Given the description of an element on the screen output the (x, y) to click on. 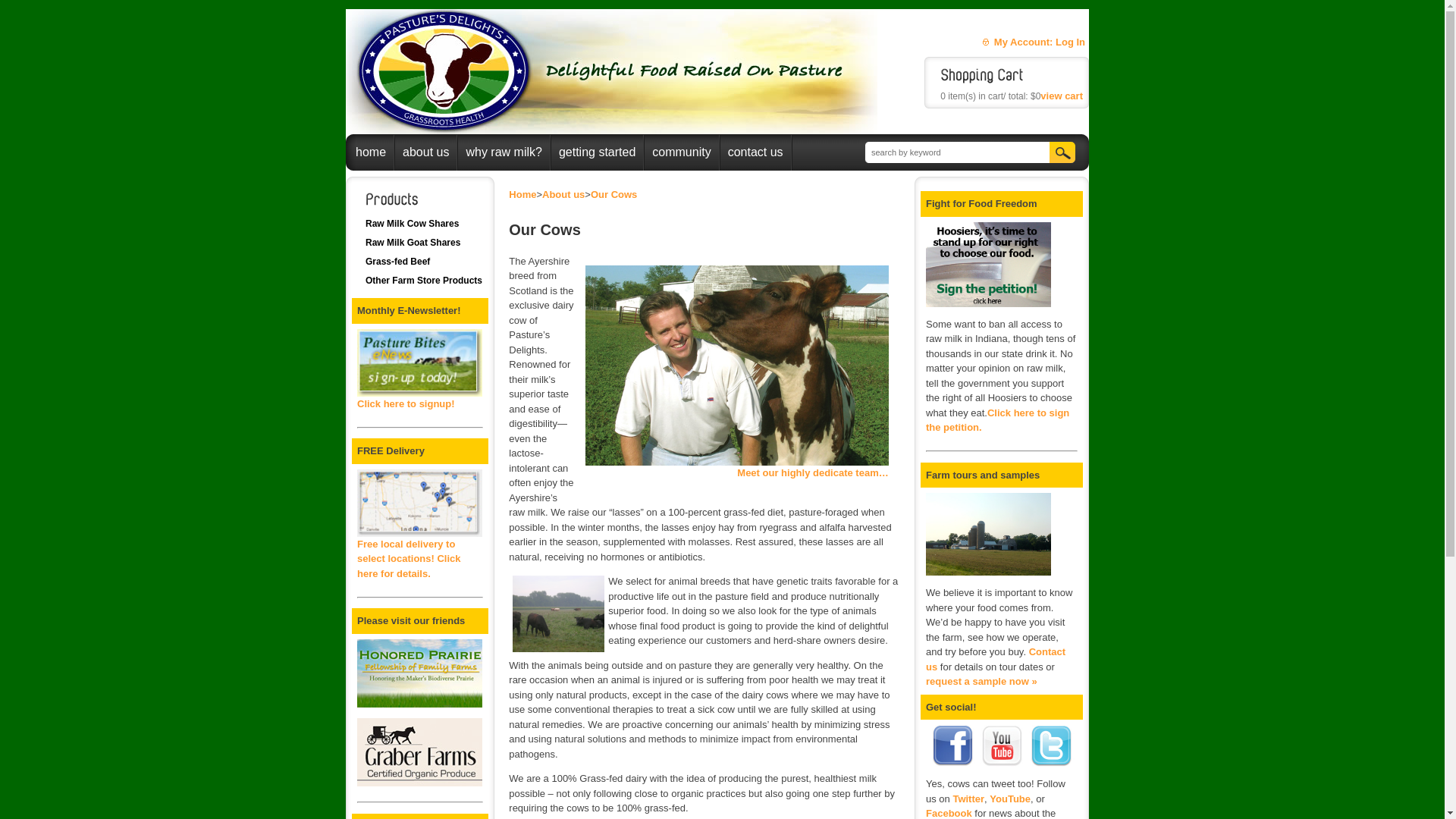
Log In Element type: text (1070, 41)
contact us Element type: text (755, 151)
My Account: Element type: text (1023, 41)
Contact us Element type: text (995, 659)
YouTube Element type: text (1009, 798)
Grass-fed Beef Element type: text (397, 261)
Click here to signup! Element type: text (419, 397)
Raw Milk Cow Shares Element type: text (411, 223)
Our Cows Element type: text (613, 194)
Home Element type: text (522, 194)
getting started Element type: text (596, 151)
About us Element type: text (563, 194)
Twitter Element type: text (968, 798)
view cart Element type: text (1061, 95)
Other Farm Store Products Element type: text (423, 280)
why raw milk? Element type: text (503, 151)
about us Element type: text (425, 151)
home Element type: text (370, 151)
Click here to sign the petition. Element type: text (997, 419)
community Element type: text (681, 151)
Pasture's Delights Element type: hover (1053, 41)
Raw Milk Goat Shares Element type: text (412, 242)
